Given the description of an element on the screen output the (x, y) to click on. 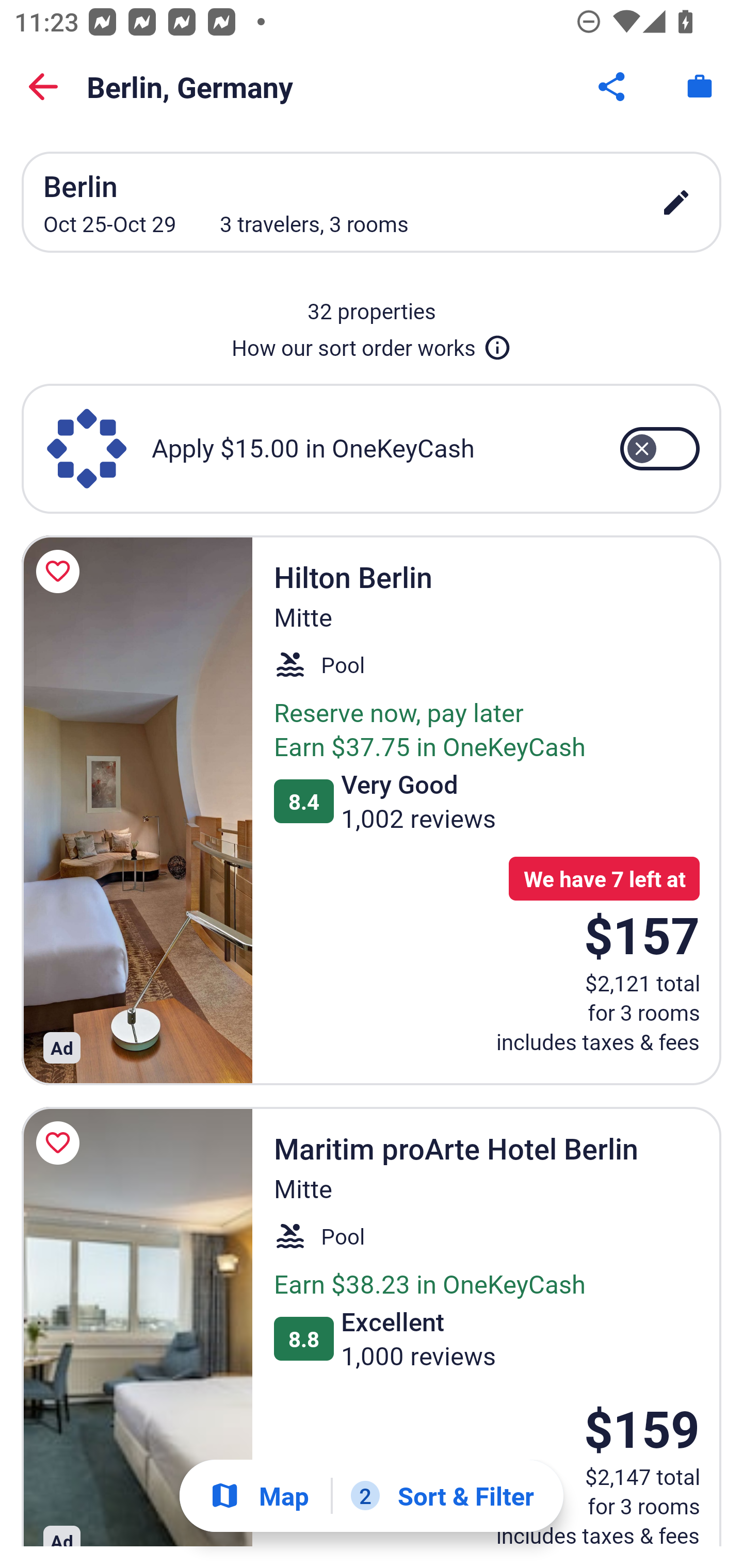
Back (43, 86)
Share Button (612, 86)
Trips. Button (699, 86)
Berlin Oct 25-Oct 29 3 travelers, 3 rooms edit (371, 202)
How our sort order works (371, 344)
Save Hilton Berlin to a trip (61, 571)
Hilton Berlin (136, 809)
Save Maritim proArte Hotel Berlin to a trip (61, 1142)
Maritim proArte Hotel Berlin (136, 1326)
2 Sort & Filter 2 Filters applied. Filters Button (442, 1495)
Show map Map Show map Button (258, 1495)
